Given the description of an element on the screen output the (x, y) to click on. 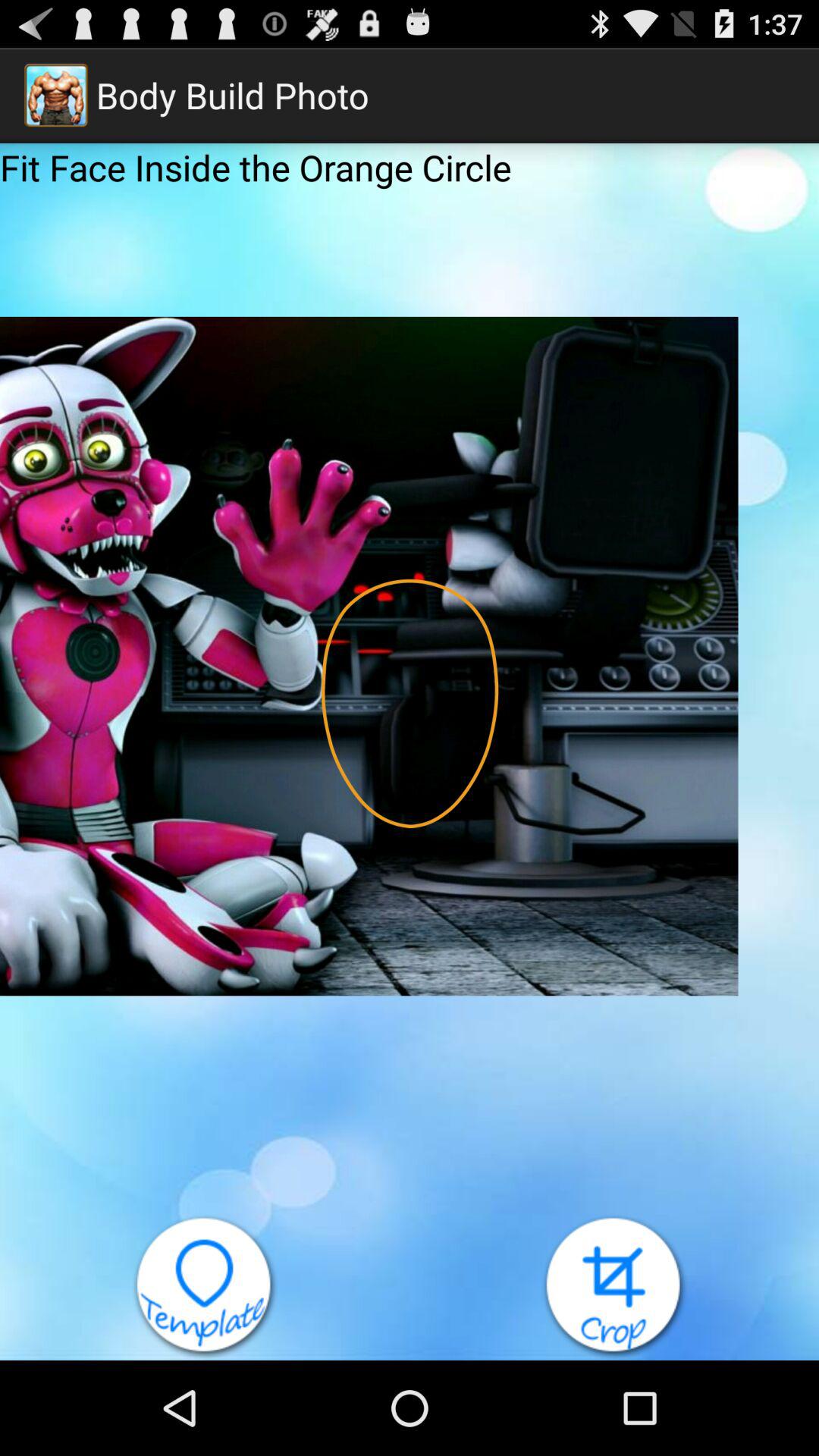
switch template option (204, 1287)
